Given the description of an element on the screen output the (x, y) to click on. 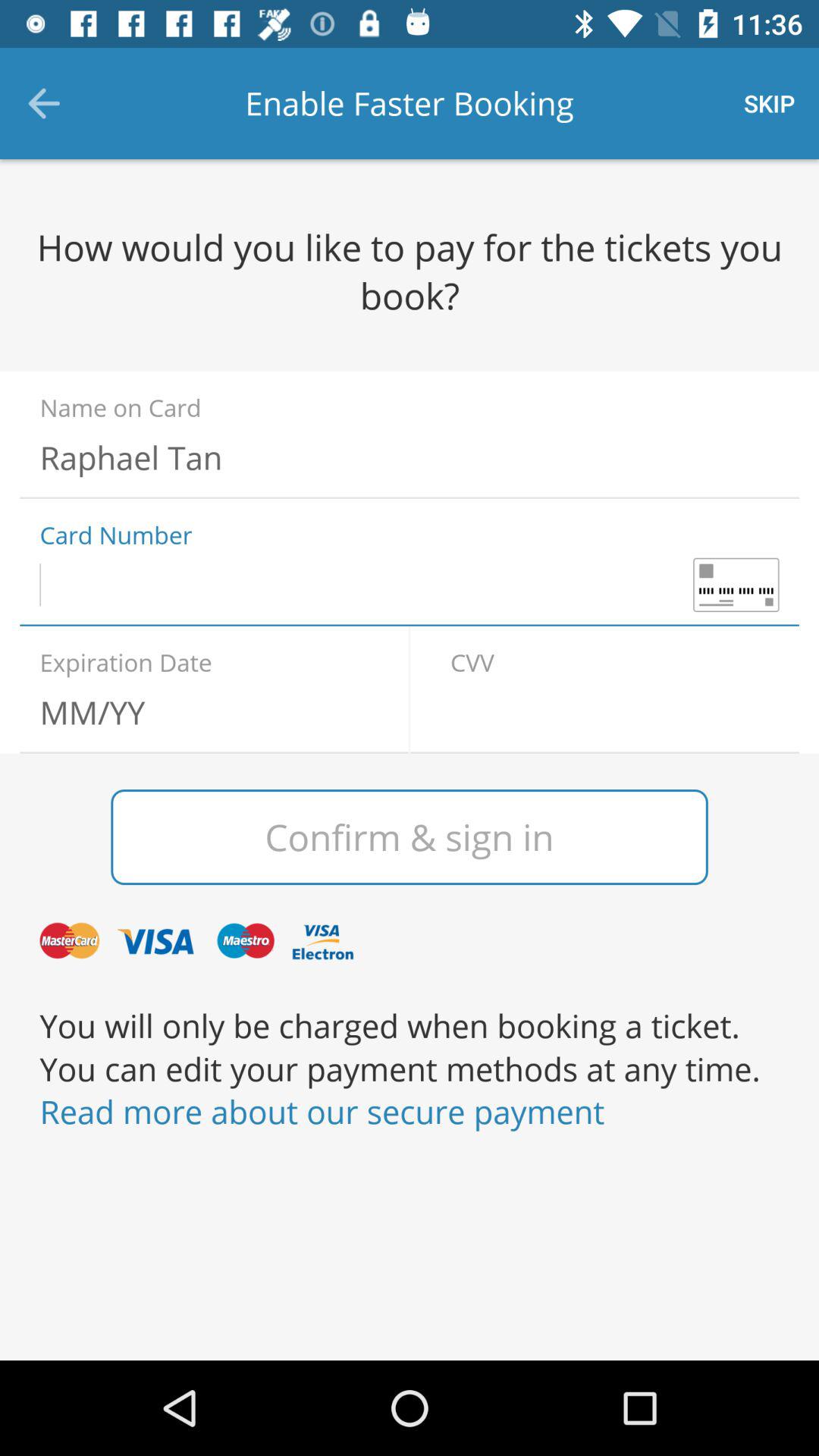
go back (614, 712)
